Given the description of an element on the screen output the (x, y) to click on. 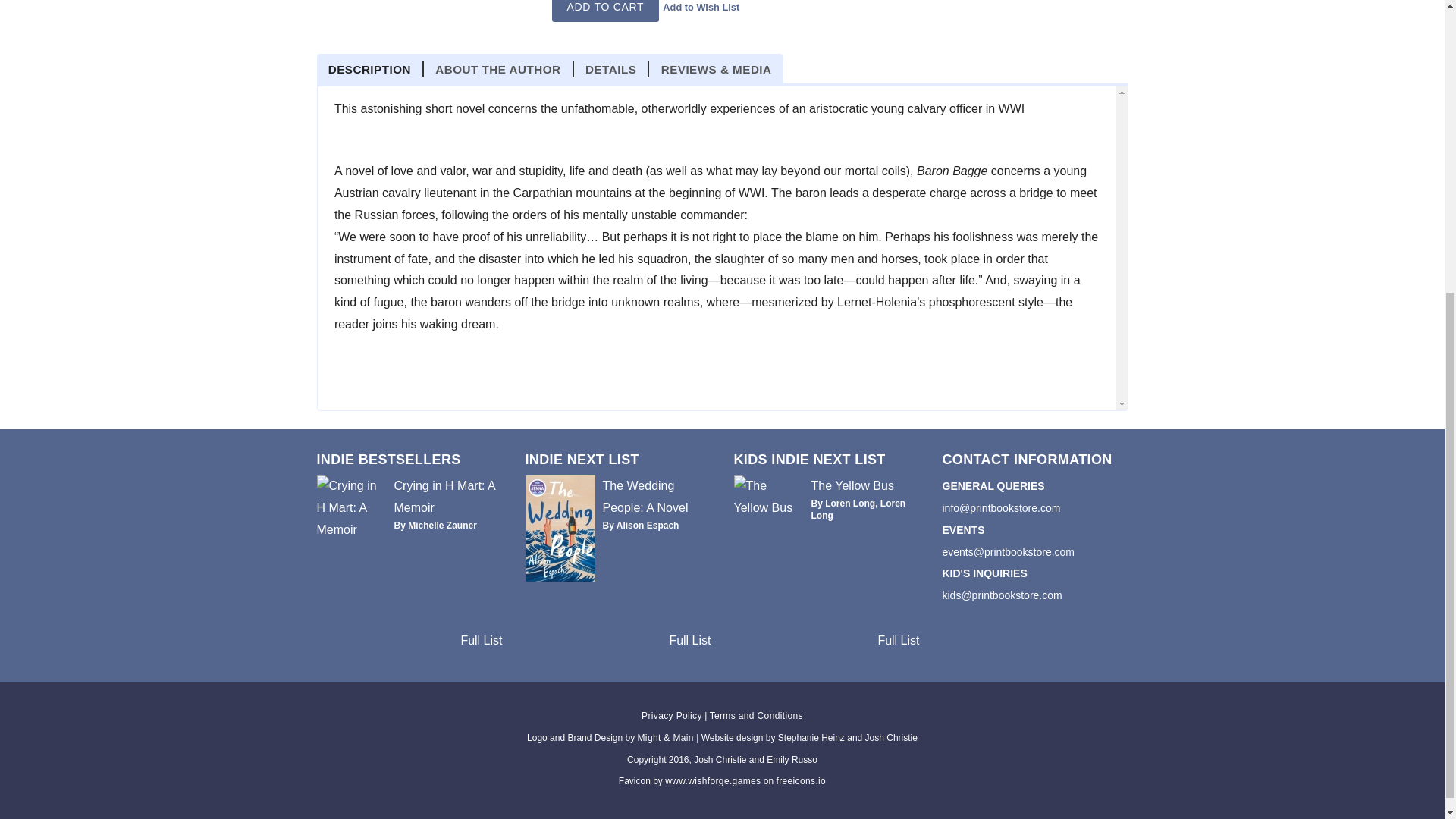
Add to Cart (605, 11)
